Given the description of an element on the screen output the (x, y) to click on. 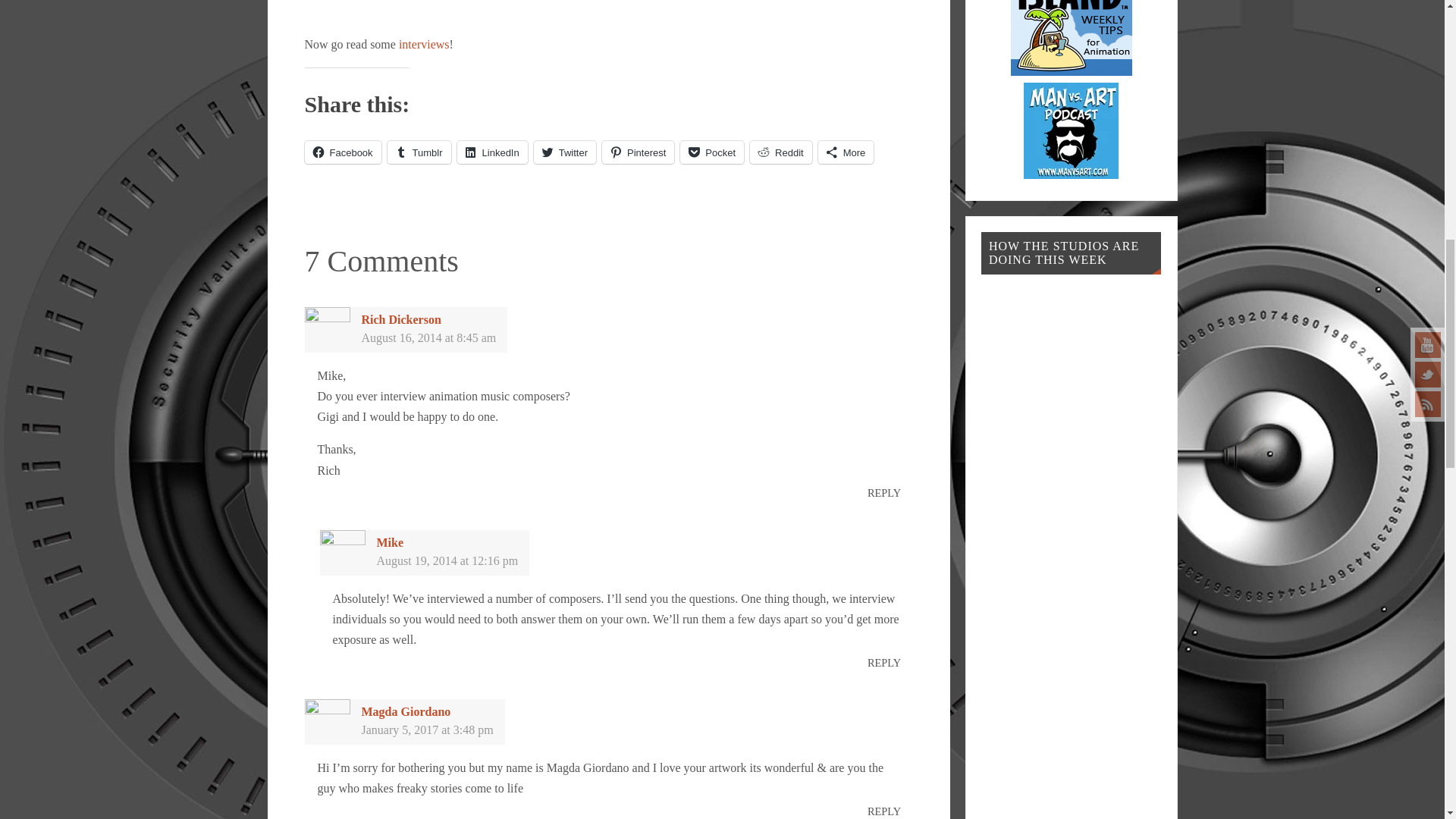
LinkedIn (492, 151)
REPLY (884, 662)
interviews (423, 43)
Tumblr (419, 151)
Pinterest (638, 151)
Click to share on Facebook (342, 151)
Facebook (342, 151)
August 19, 2014 at 12:16 pm (446, 560)
Magda Giordano (405, 711)
August 16, 2014 at 8:45 am (428, 337)
